Given the description of an element on the screen output the (x, y) to click on. 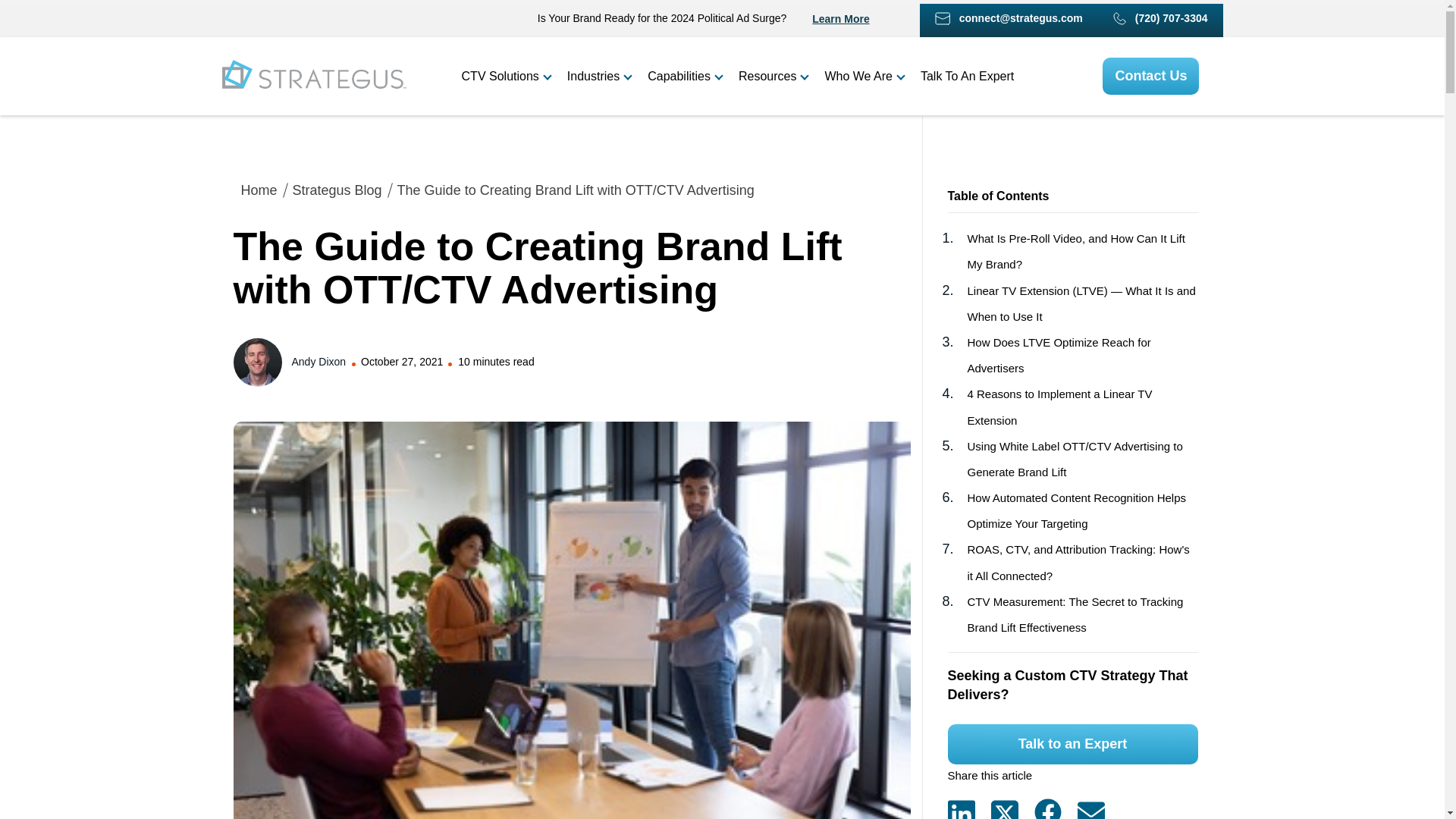
Learn More About Strategus (840, 19)
Industries (598, 76)
Resources (773, 76)
Capabilities (684, 76)
CTV Solutions (505, 76)
Learn More (840, 19)
